Given the description of an element on the screen output the (x, y) to click on. 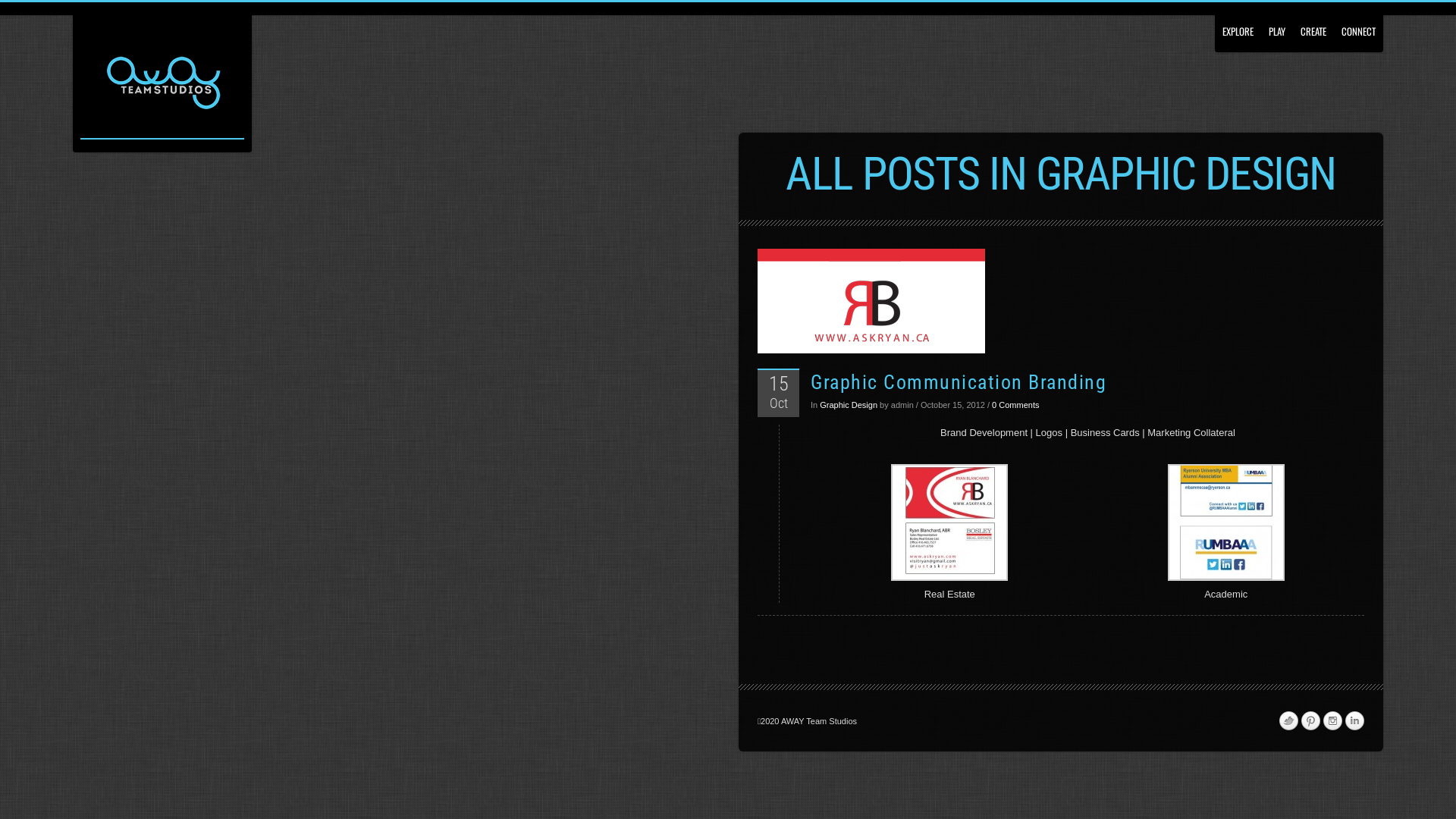
CONNECT Element type: text (1358, 26)
Graphic Communication Branding Element type: hover (871, 300)
Instagram Element type: hover (1332, 721)
Pinterest Element type: hover (1310, 721)
Linkedin Element type: hover (1354, 721)
Graphic Communication Branding Element type: text (958, 381)
0 Comments Element type: text (1014, 404)
AwayTeamStudios Element type: hover (162, 86)
EXPLORE Element type: text (1237, 26)
Graphic Design Element type: text (848, 404)
PLAY Element type: text (1276, 26)
Permanent link to Graphic Communication Branding Element type: hover (1060, 300)
CREATE Element type: text (1312, 26)
Twitter Element type: hover (1288, 721)
